Given the description of an element on the screen output the (x, y) to click on. 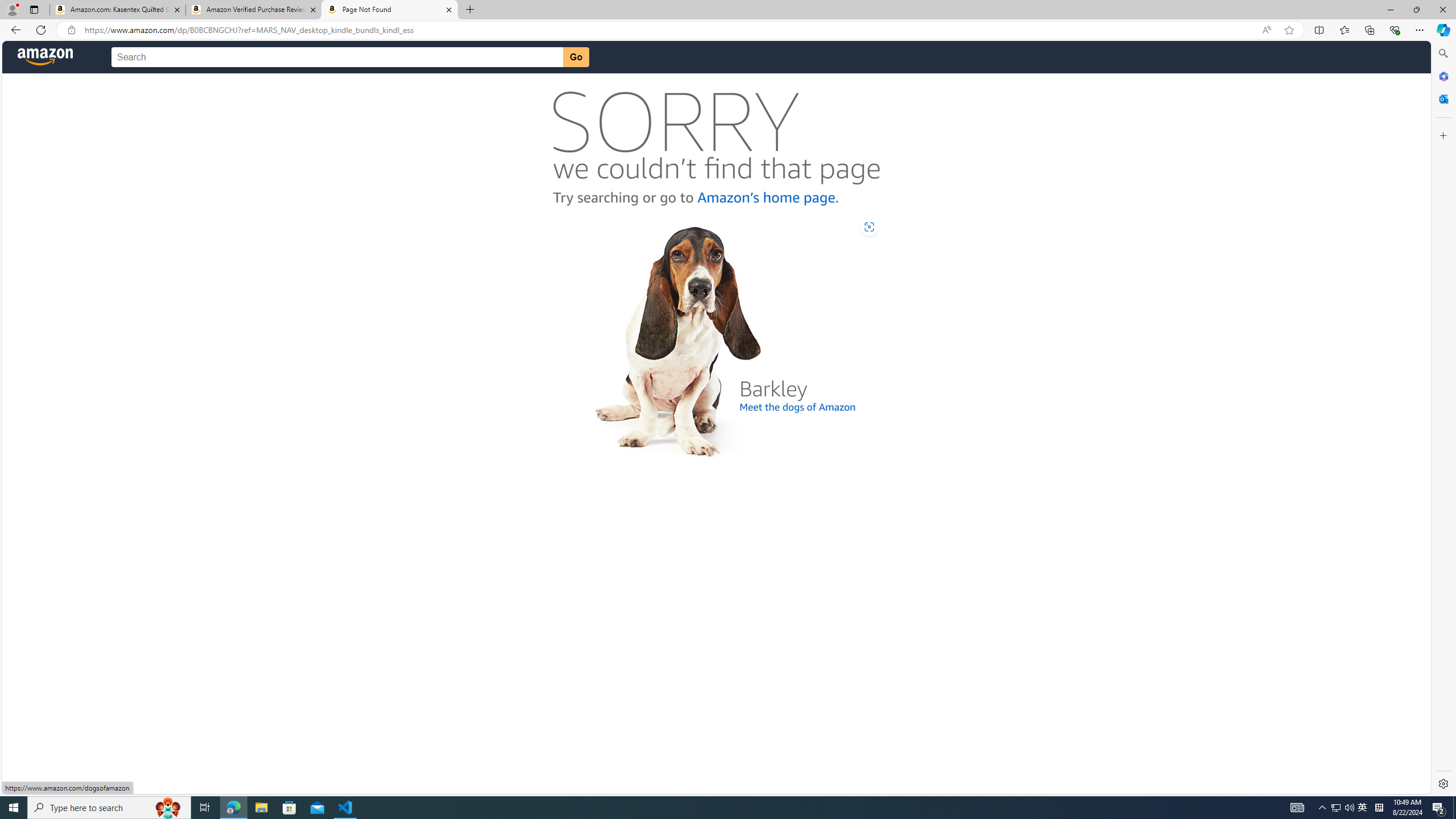
Go (575, 57)
Page Not Found (390, 9)
Amazon (45, 57)
